Given the description of an element on the screen output the (x, y) to click on. 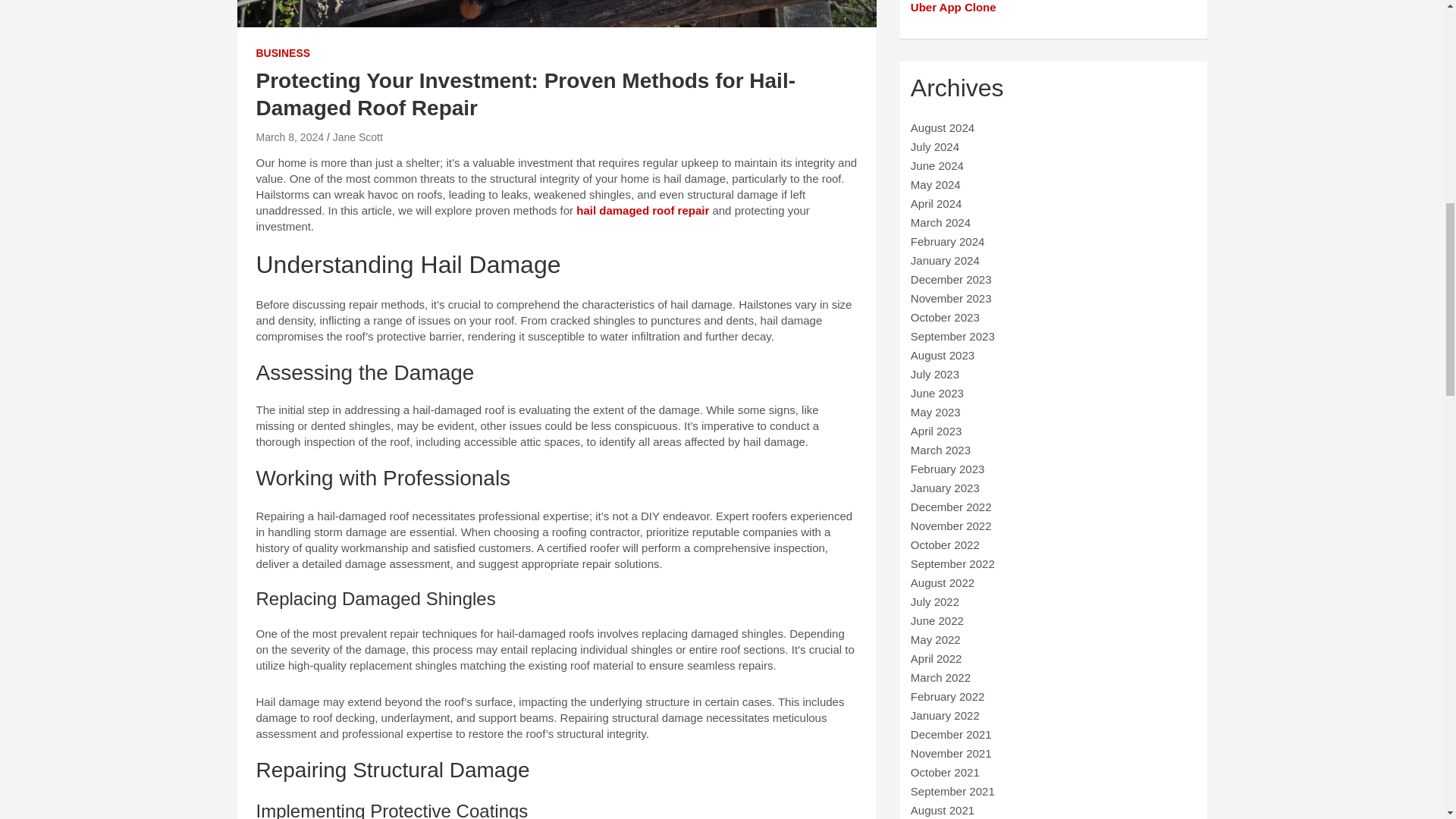
March 8, 2024 (290, 137)
hail damaged roof repair (642, 210)
BUSINESS (283, 53)
Jane Scott (357, 137)
